Given the description of an element on the screen output the (x, y) to click on. 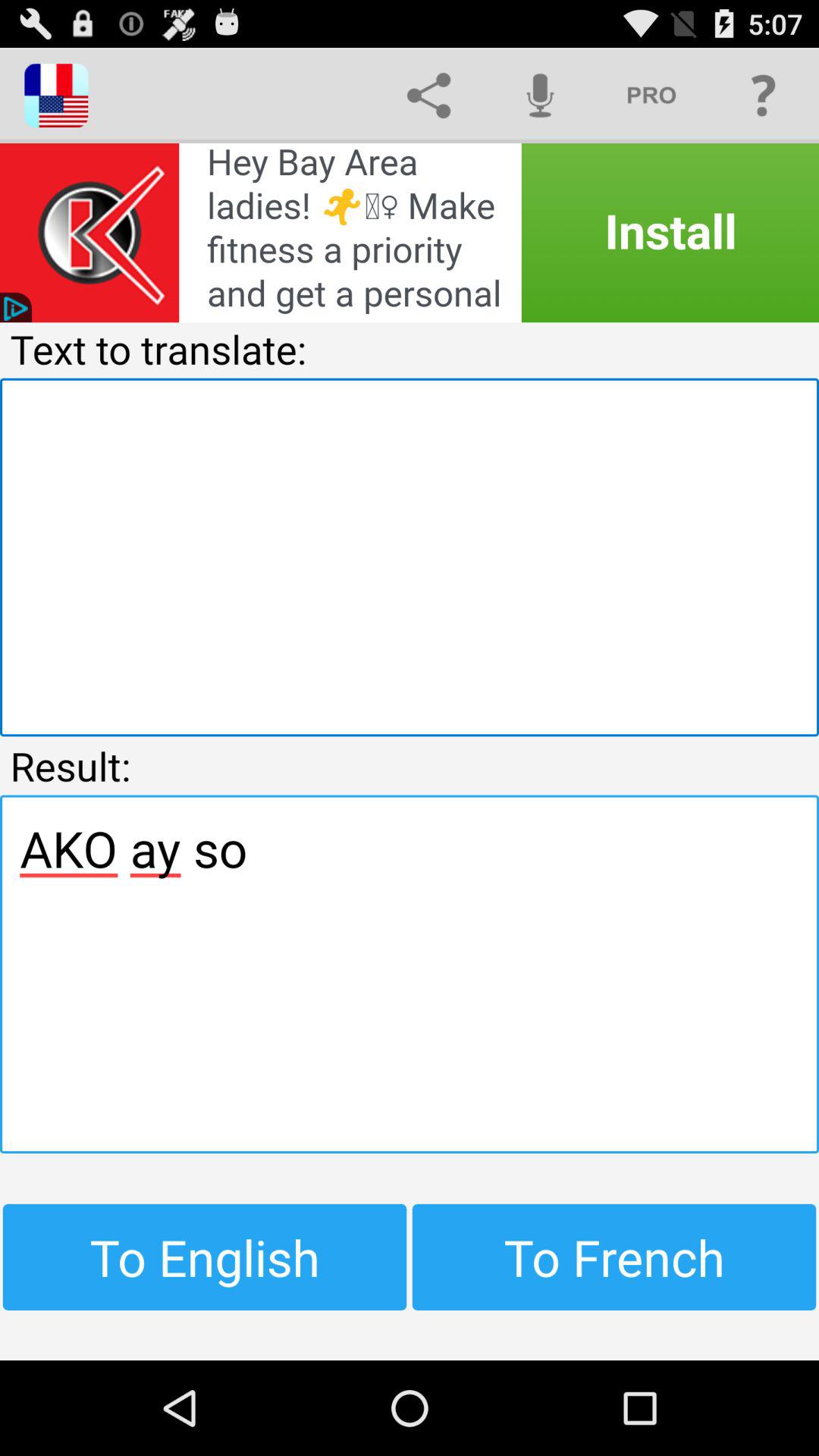
tap item to the right of to english (614, 1257)
